Given the description of an element on the screen output the (x, y) to click on. 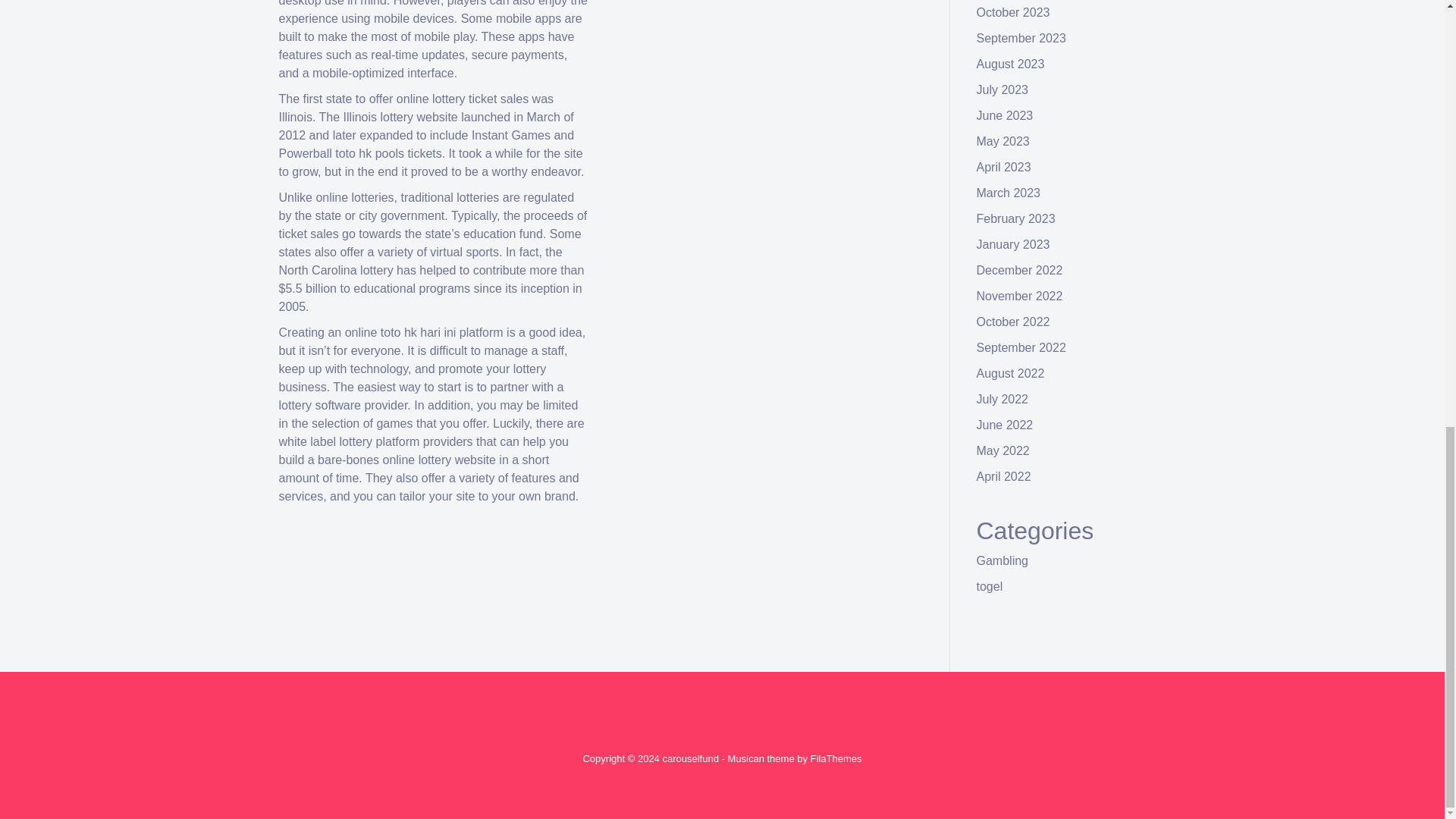
July 2022 (1002, 399)
January 2023 (1012, 244)
May 2023 (1002, 141)
October 2023 (1012, 11)
carouselfund (689, 758)
October 2022 (1012, 321)
September 2022 (1020, 347)
April 2023 (1003, 166)
July 2023 (1002, 89)
February 2023 (1015, 218)
